Given the description of an element on the screen output the (x, y) to click on. 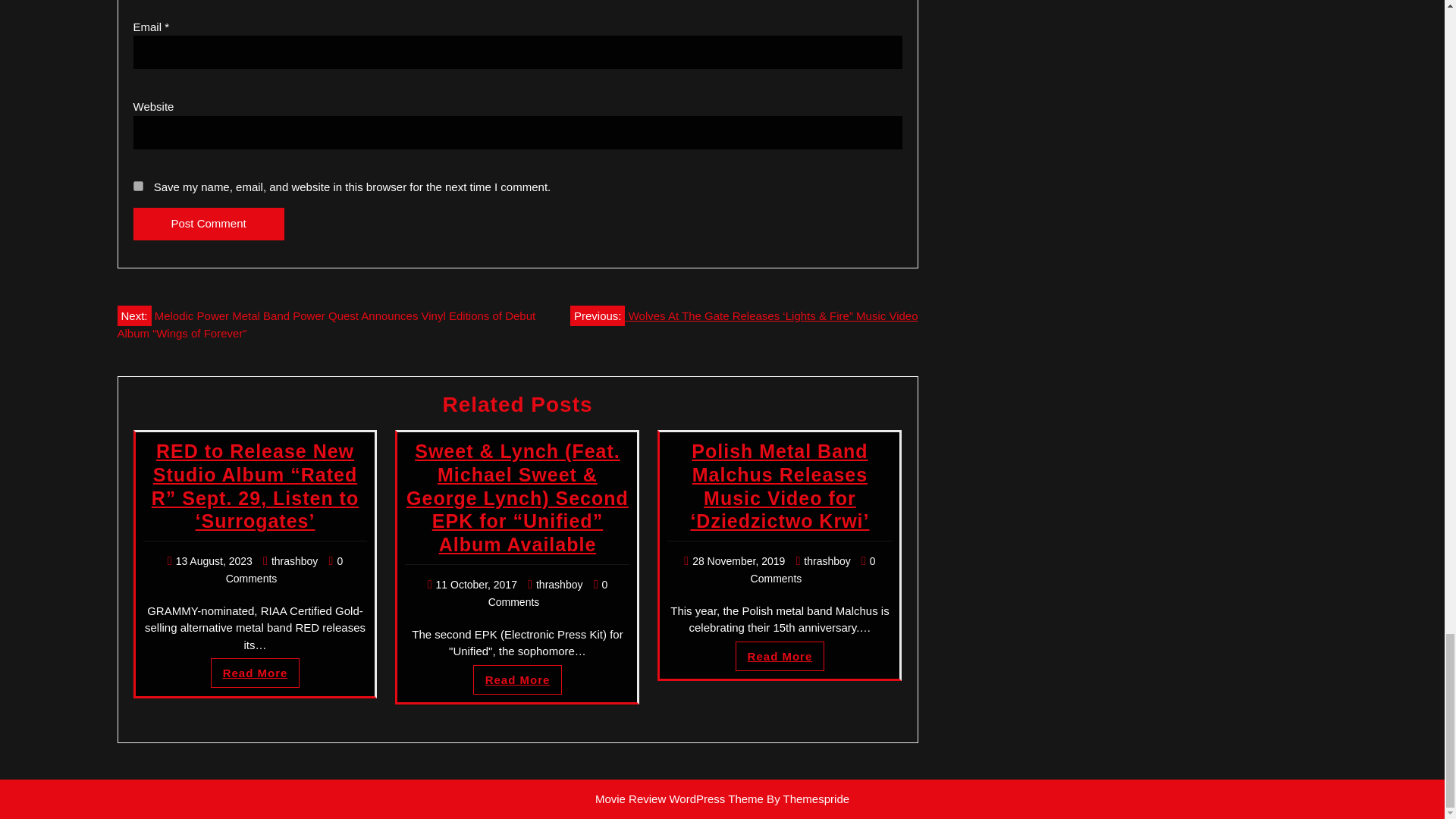
Read More (255, 672)
Read More (517, 679)
yes (137, 185)
Read More (780, 655)
Read More (517, 679)
Post Comment (208, 224)
Read More (780, 655)
Post Comment (208, 224)
Read More (255, 672)
